Given the description of an element on the screen output the (x, y) to click on. 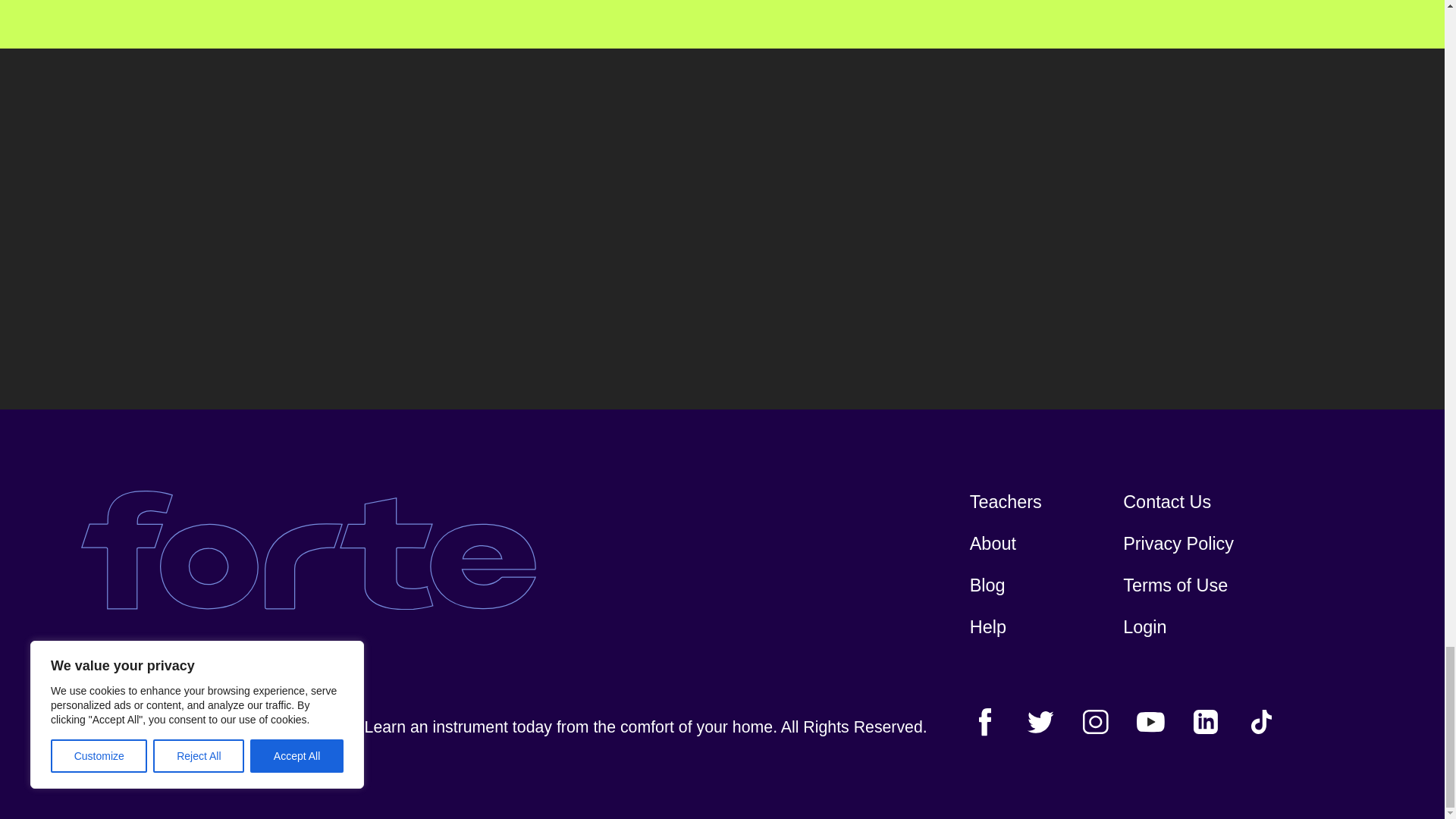
Teachers (1005, 502)
facebook (985, 721)
About (992, 544)
Privacy Policy (1177, 544)
Submit (1175, 157)
Blog (987, 586)
Terms of Use (1174, 586)
Contact Us (1166, 502)
Login (1144, 627)
Help (987, 627)
